Given the description of an element on the screen output the (x, y) to click on. 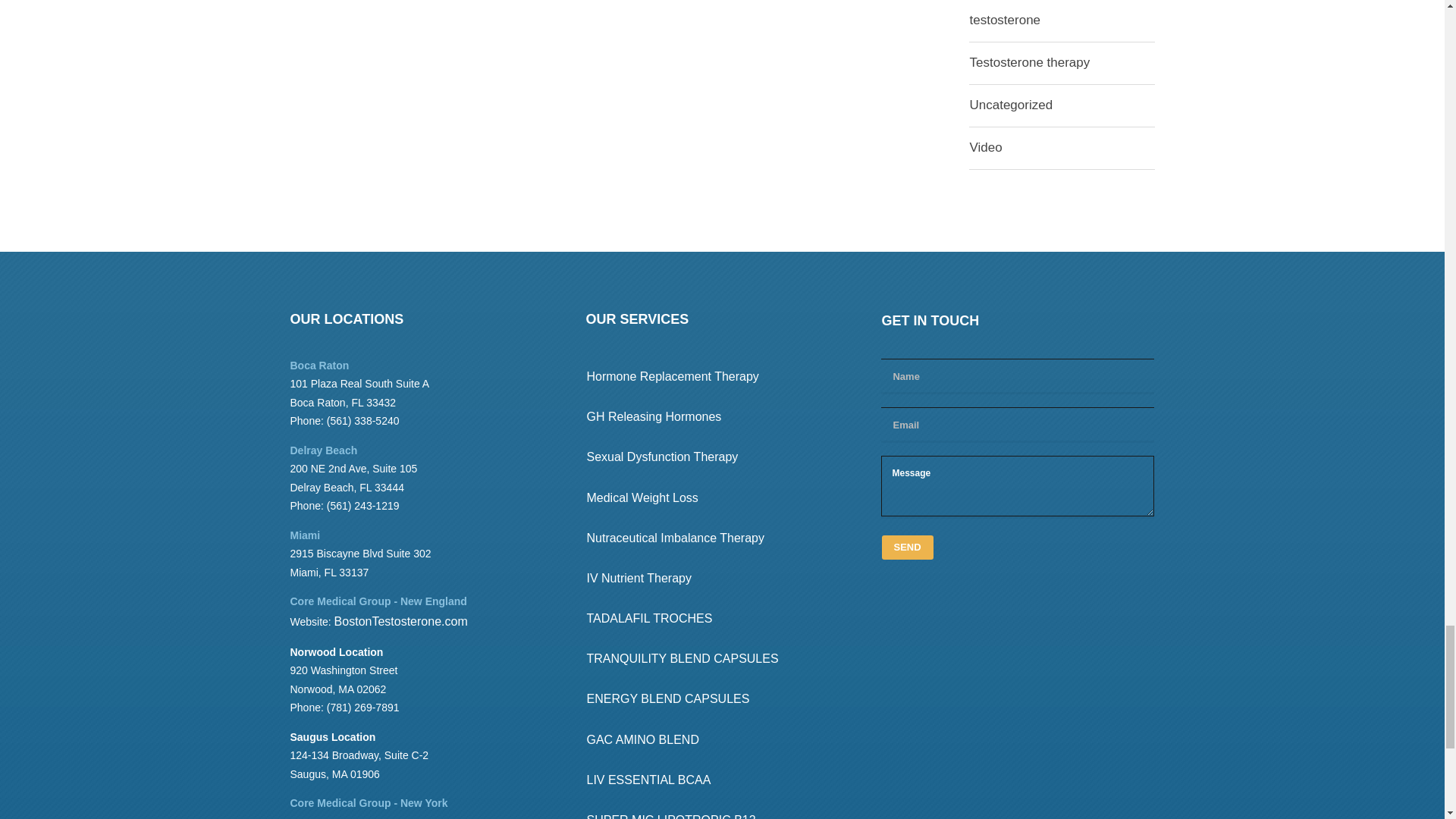
Email (1017, 423)
Name (1017, 375)
